Given the description of an element on the screen output the (x, y) to click on. 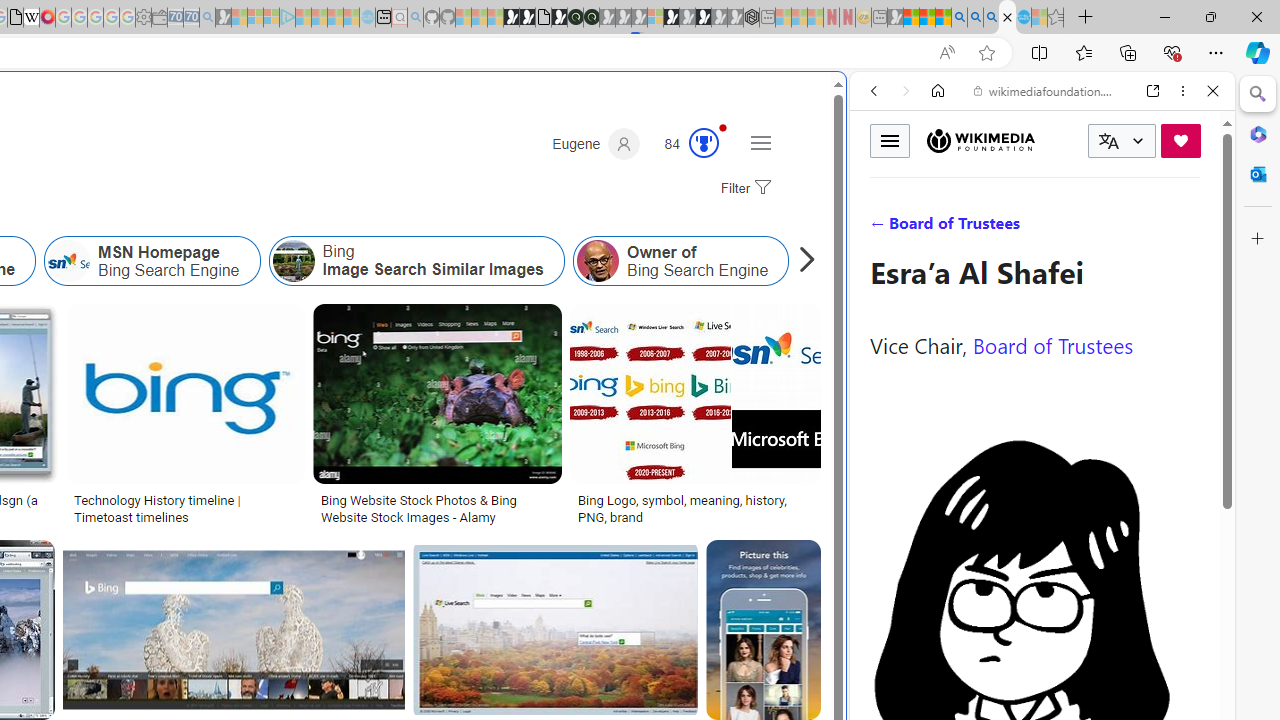
Search Filter, WEB (882, 228)
Scroll right (801, 260)
Play Cave FRVR in your browser | Games from Microsoft Start (343, 426)
MediaWiki (47, 17)
Wikimedia Foundation (980, 141)
Class: b_serphb (1190, 229)
Settings and quick links (760, 142)
Technology History timeline | Timetoast timelines (185, 508)
Animation (723, 127)
Forward (906, 91)
